Given the description of an element on the screen output the (x, y) to click on. 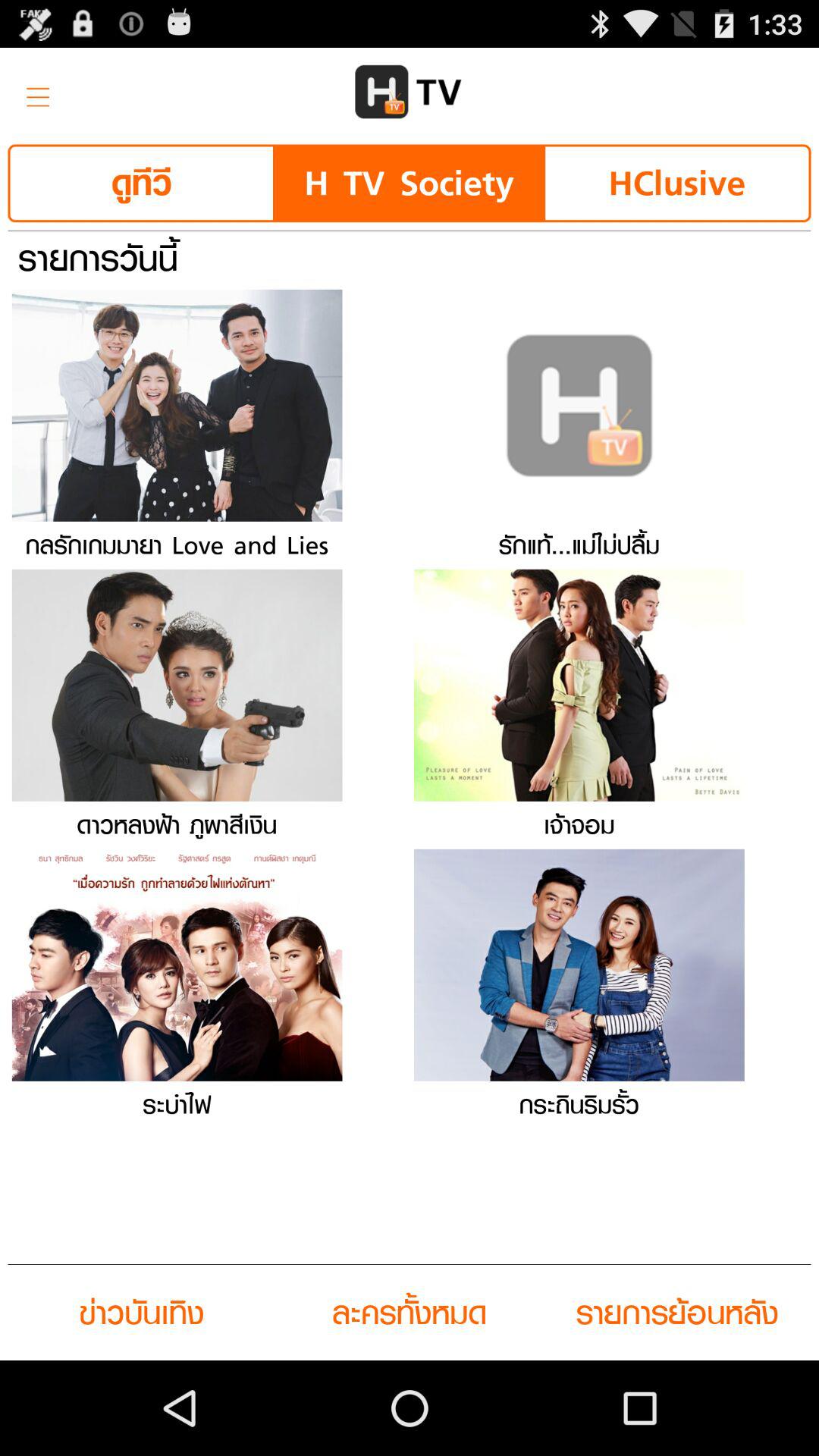
open the button to the left of h tv society item (141, 183)
